Given the description of an element on the screen output the (x, y) to click on. 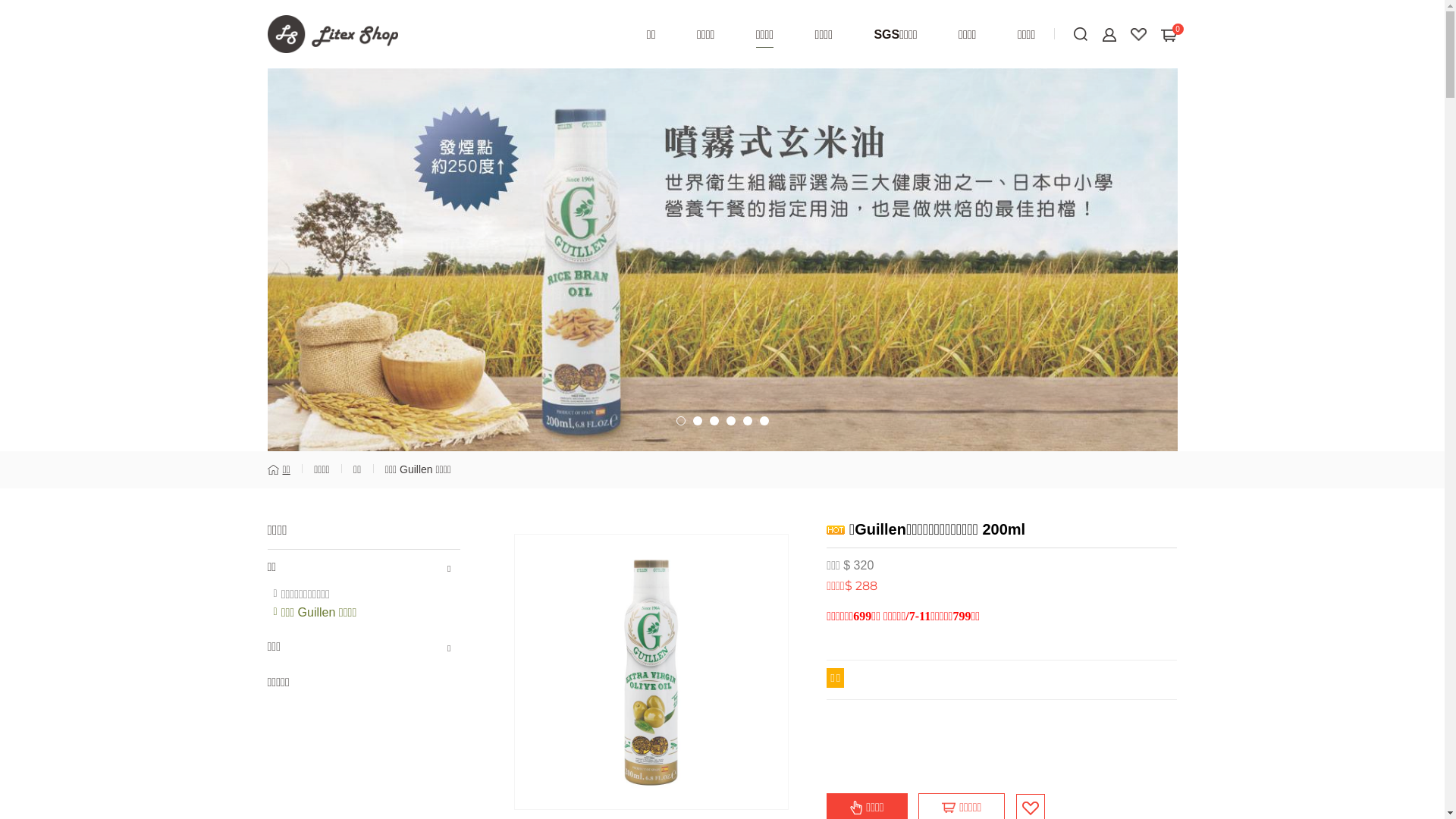
Litex Shop Element type: hover (332, 34)
